Given the description of an element on the screen output the (x, y) to click on. 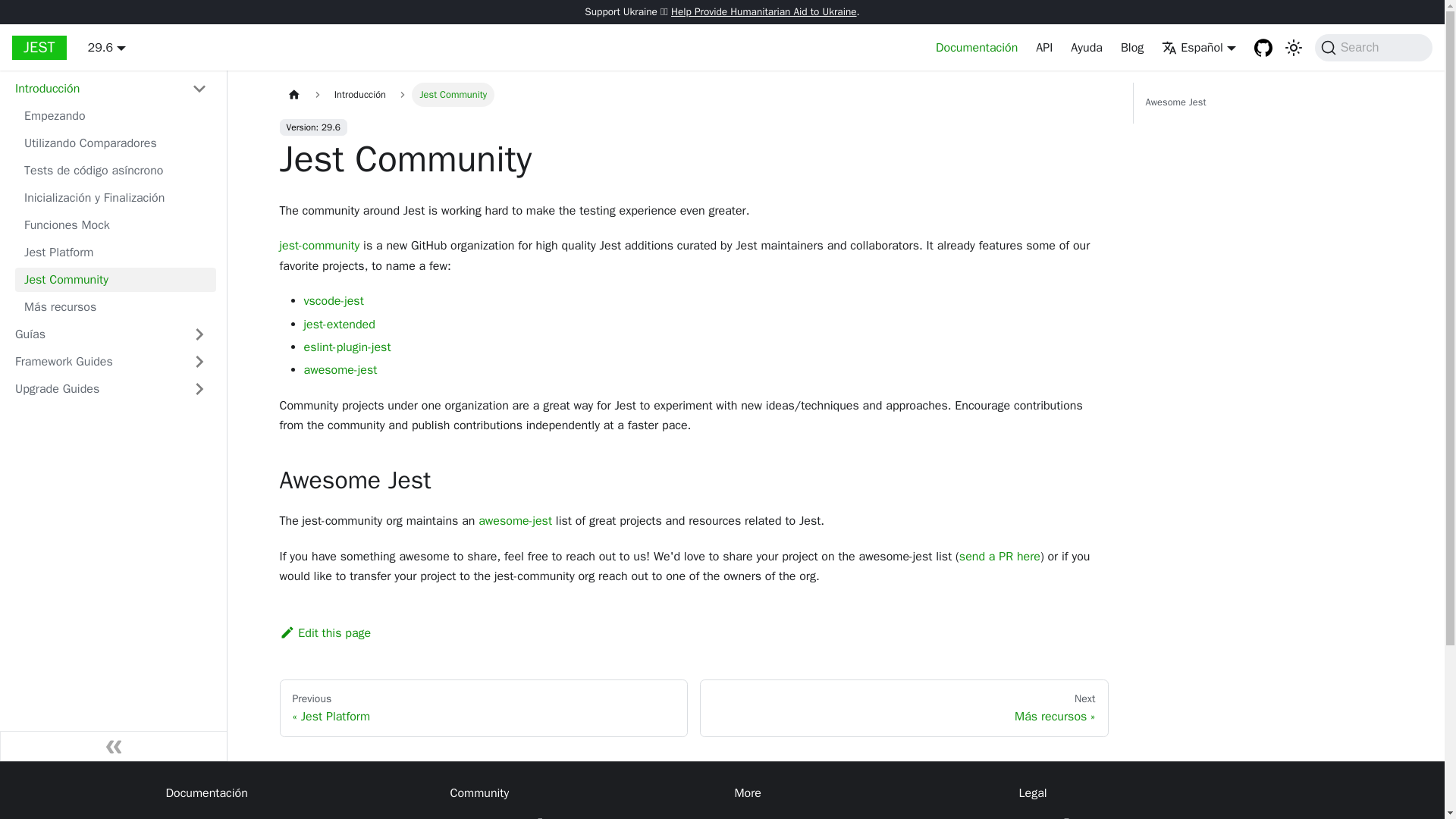
JEST (38, 47)
Awesome Jest (1262, 102)
Search (1373, 47)
Collapse sidebar (113, 746)
Ayuda (1086, 47)
Help Provide Humanitarian Aid to Ukraine (764, 11)
29.6 (106, 47)
API (1043, 47)
Blog (1132, 47)
